Given the description of an element on the screen output the (x, y) to click on. 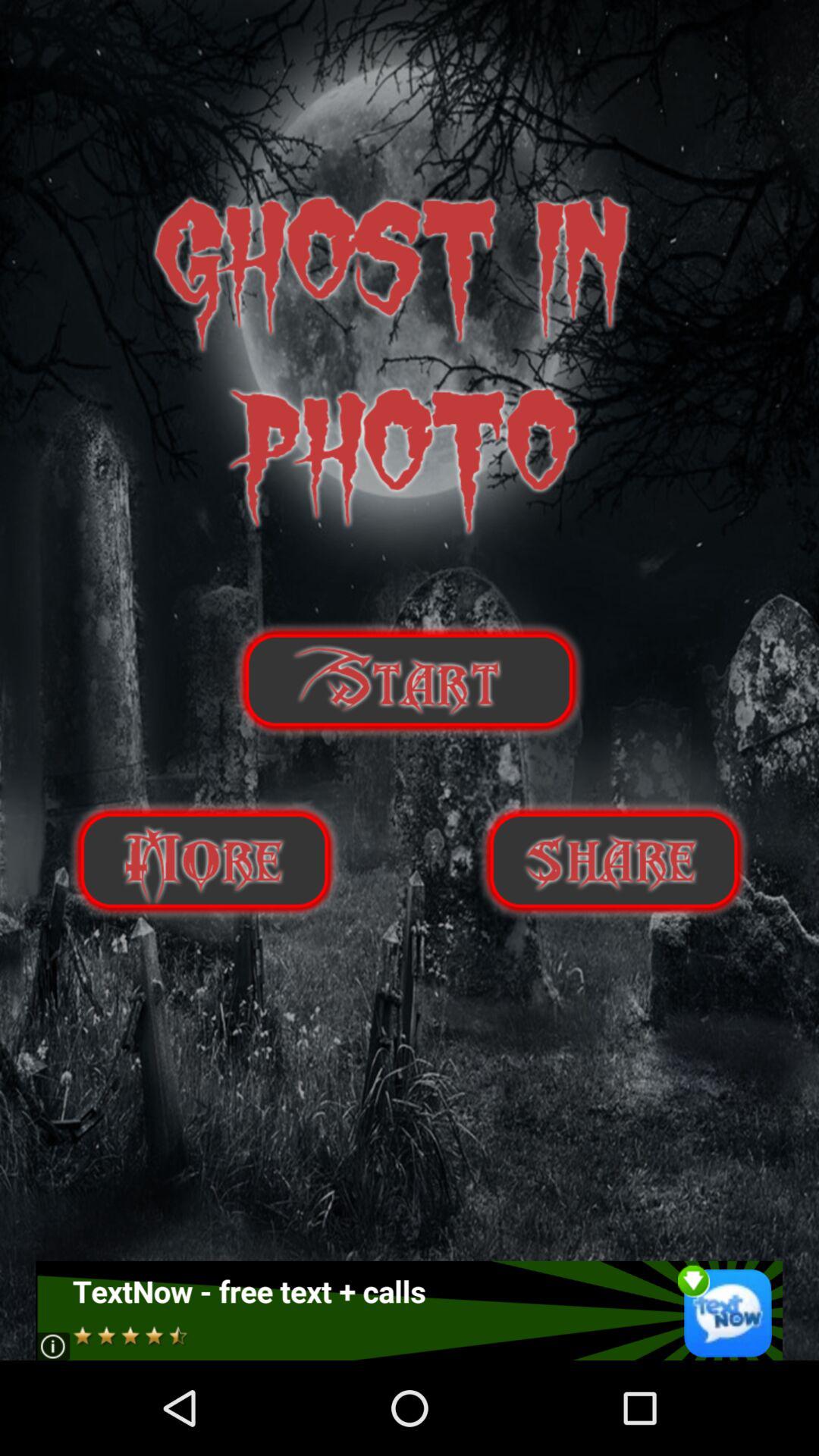
open advertisement (408, 1310)
